Given the description of an element on the screen output the (x, y) to click on. 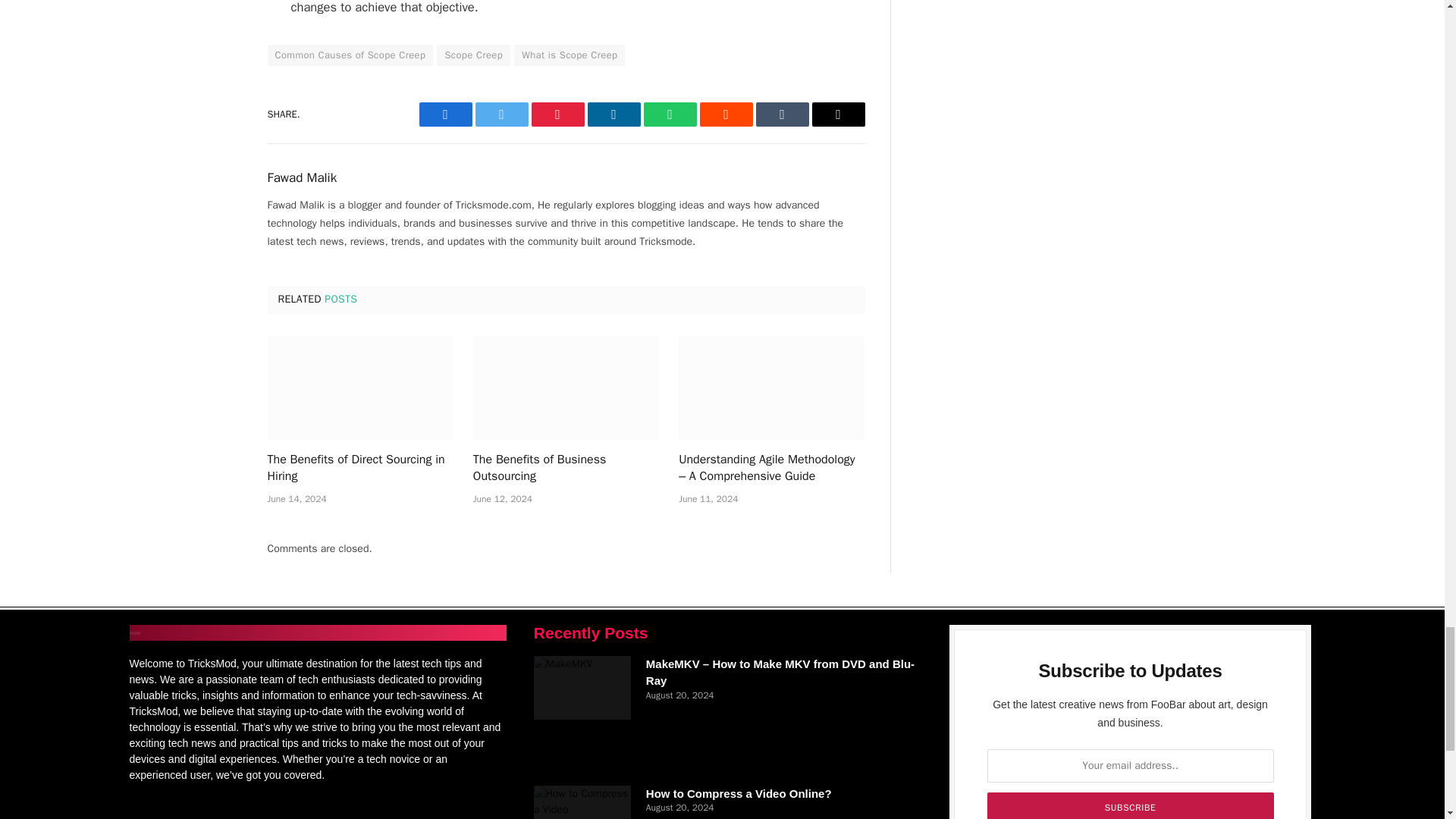
Share on Facebook (445, 114)
Subscribe (1130, 805)
Share on LinkedIn (613, 114)
Share on Pinterest (557, 114)
